Given the description of an element on the screen output the (x, y) to click on. 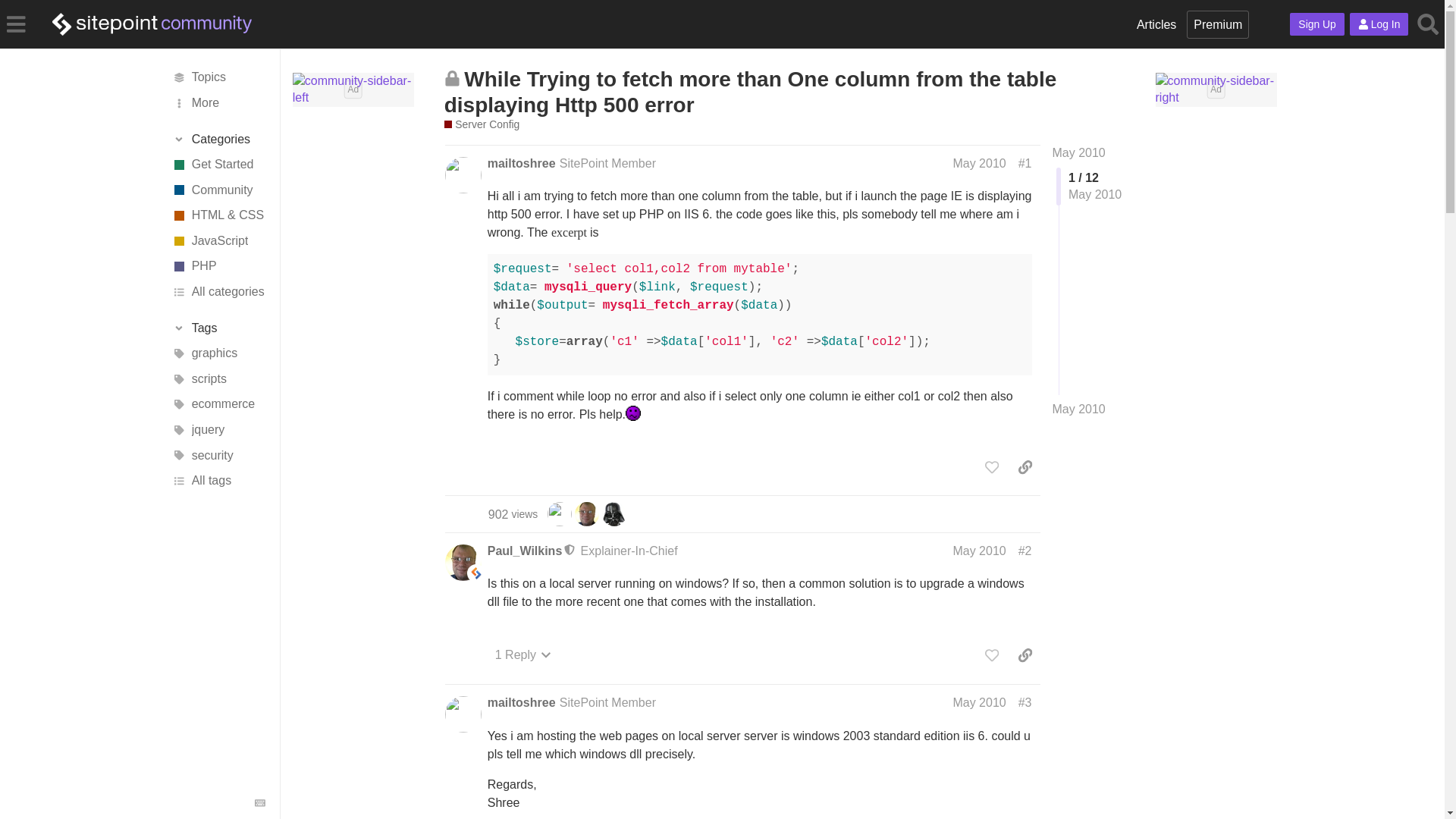
Community (217, 190)
Log In (1379, 24)
Topics (217, 77)
Keyboard Shortcuts (258, 802)
Articles (1156, 24)
Toggle section (217, 328)
Server Config (481, 124)
This topic is closed; it no longer accepts new replies (452, 78)
More (217, 103)
